Given the description of an element on the screen output the (x, y) to click on. 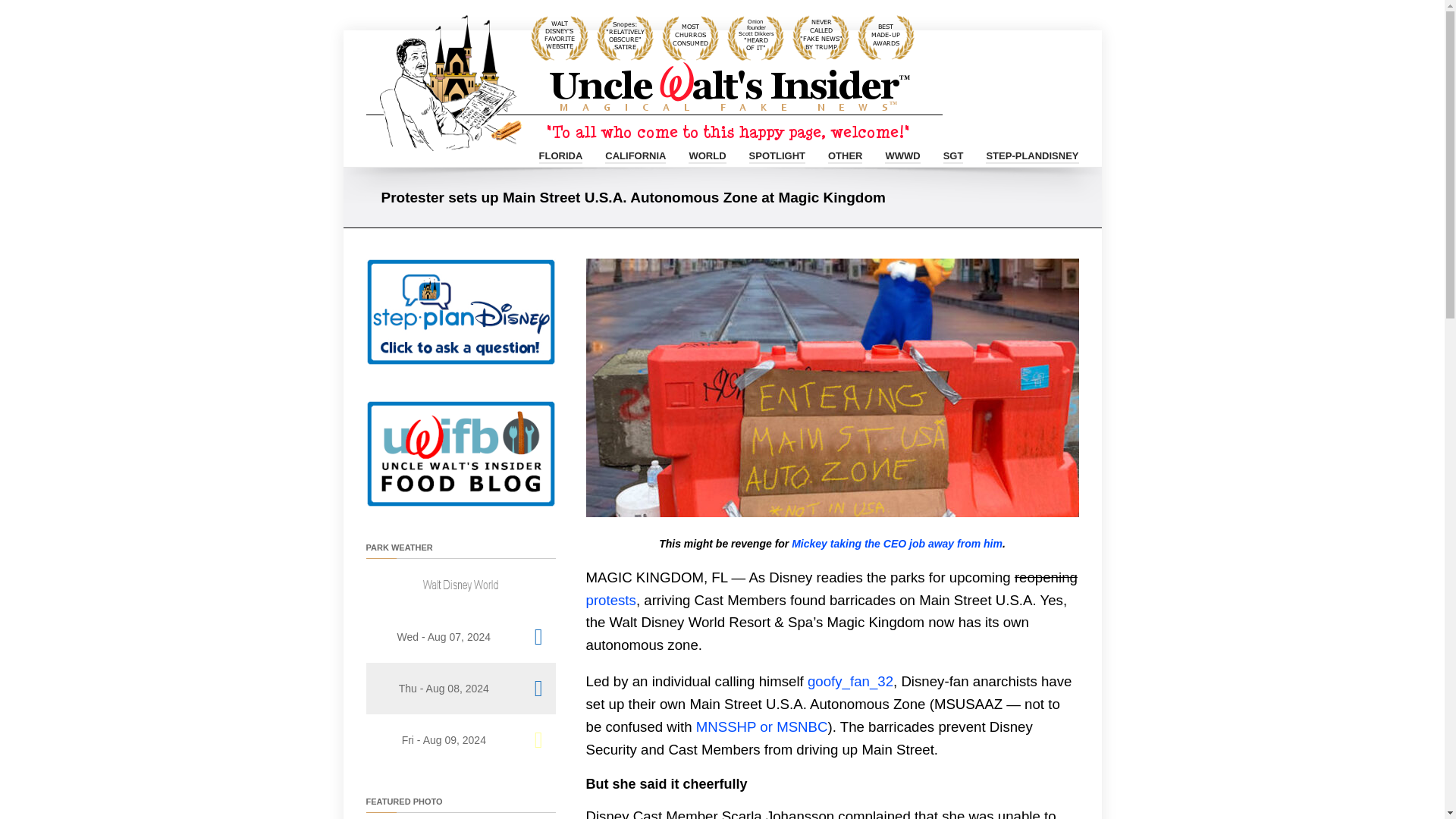
Mickey taking the CEO job away from him (897, 543)
OTHER (845, 153)
SGT (953, 153)
STEP-PLANDISNEY (1031, 153)
WORLD (706, 153)
FLORIDA (560, 153)
WWWD (902, 153)
SPOTLIGHT (777, 153)
CALIFORNIA (635, 153)
MNSSHP or MSNBC (761, 726)
protests (609, 600)
